Given the description of an element on the screen output the (x, y) to click on. 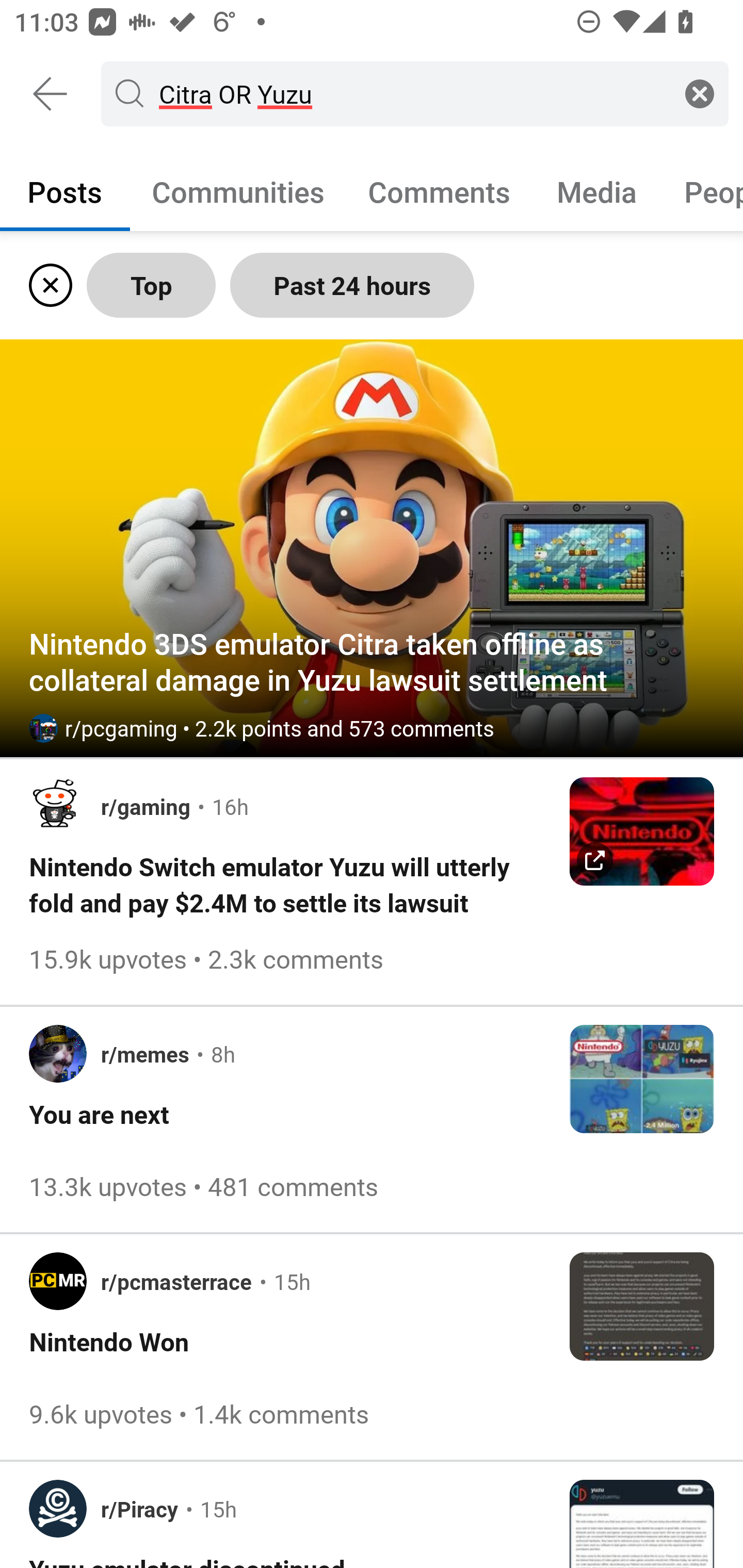
Back (50, 93)
Citra OR Yuzu (410, 93)
Clear search (699, 93)
Communities (238, 191)
Comments (438, 191)
Media (596, 191)
Clear active filters (46, 285)
Top Sort by Top (150, 285)
Past 24 hours Filter Time by Past 24 hours (352, 285)
